Given the description of an element on the screen output the (x, y) to click on. 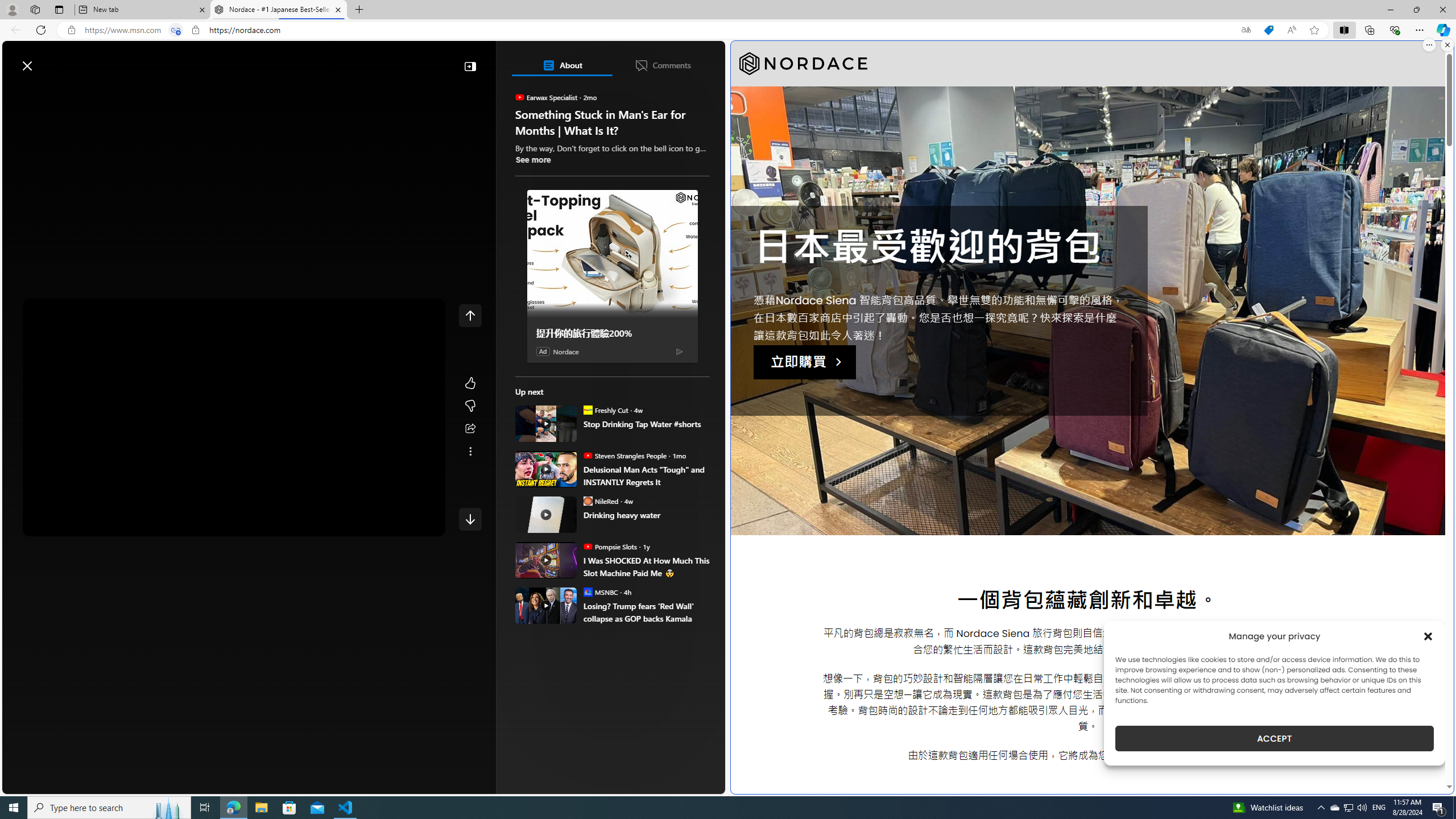
Open settings (699, 60)
Ad (542, 351)
Like (469, 382)
Steven Strangles People (587, 455)
Freshly Cut Freshly Cut (605, 409)
App bar (728, 29)
Following (97, 92)
Discover (52, 92)
Nordace - #1 Japanese Best-Seller - Siena Smart Backpack (277, 9)
